Given the description of an element on the screen output the (x, y) to click on. 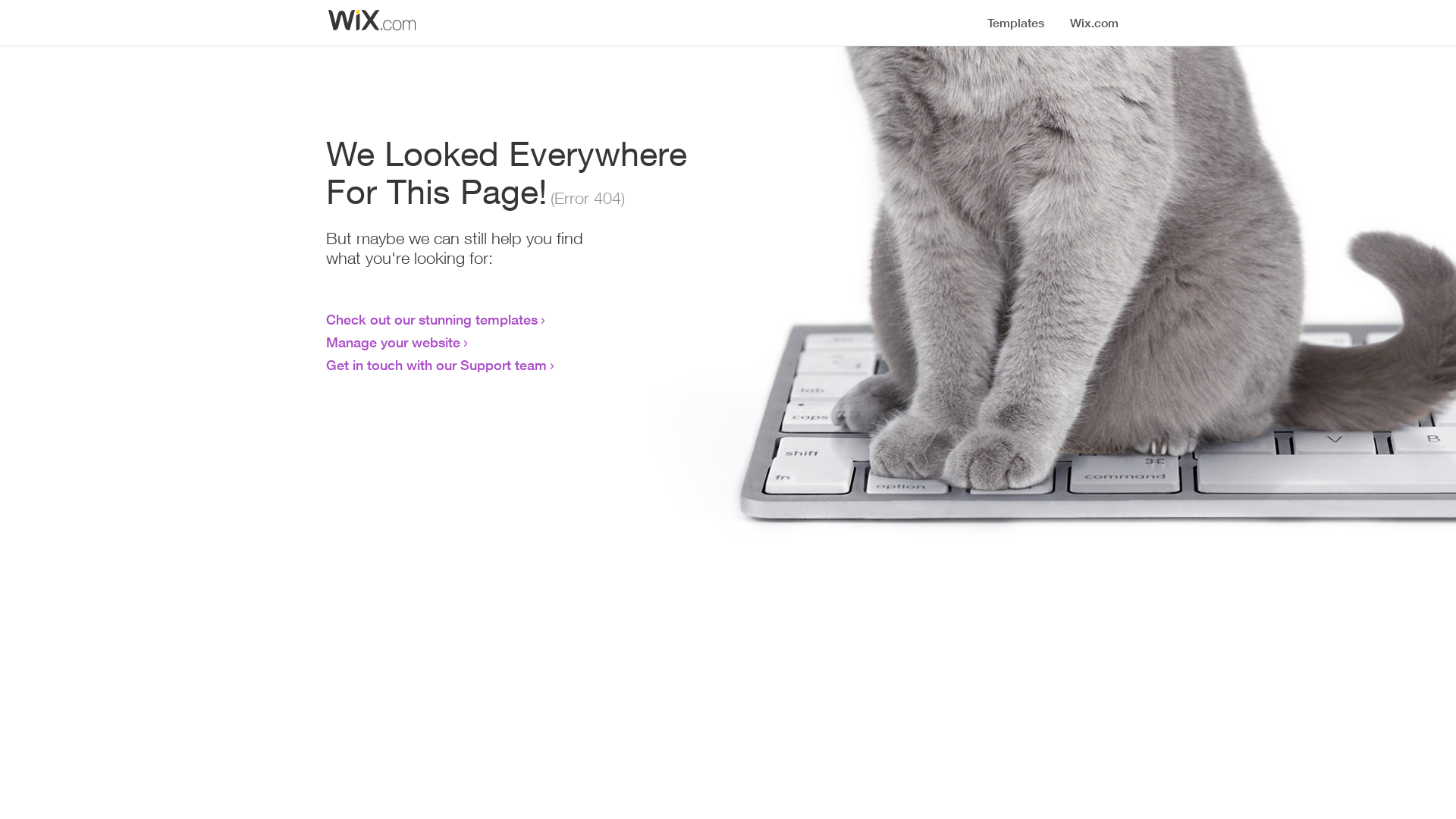
Get in touch with our Support team Element type: text (436, 364)
Manage your website Element type: text (393, 341)
Check out our stunning templates Element type: text (431, 318)
